Given the description of an element on the screen output the (x, y) to click on. 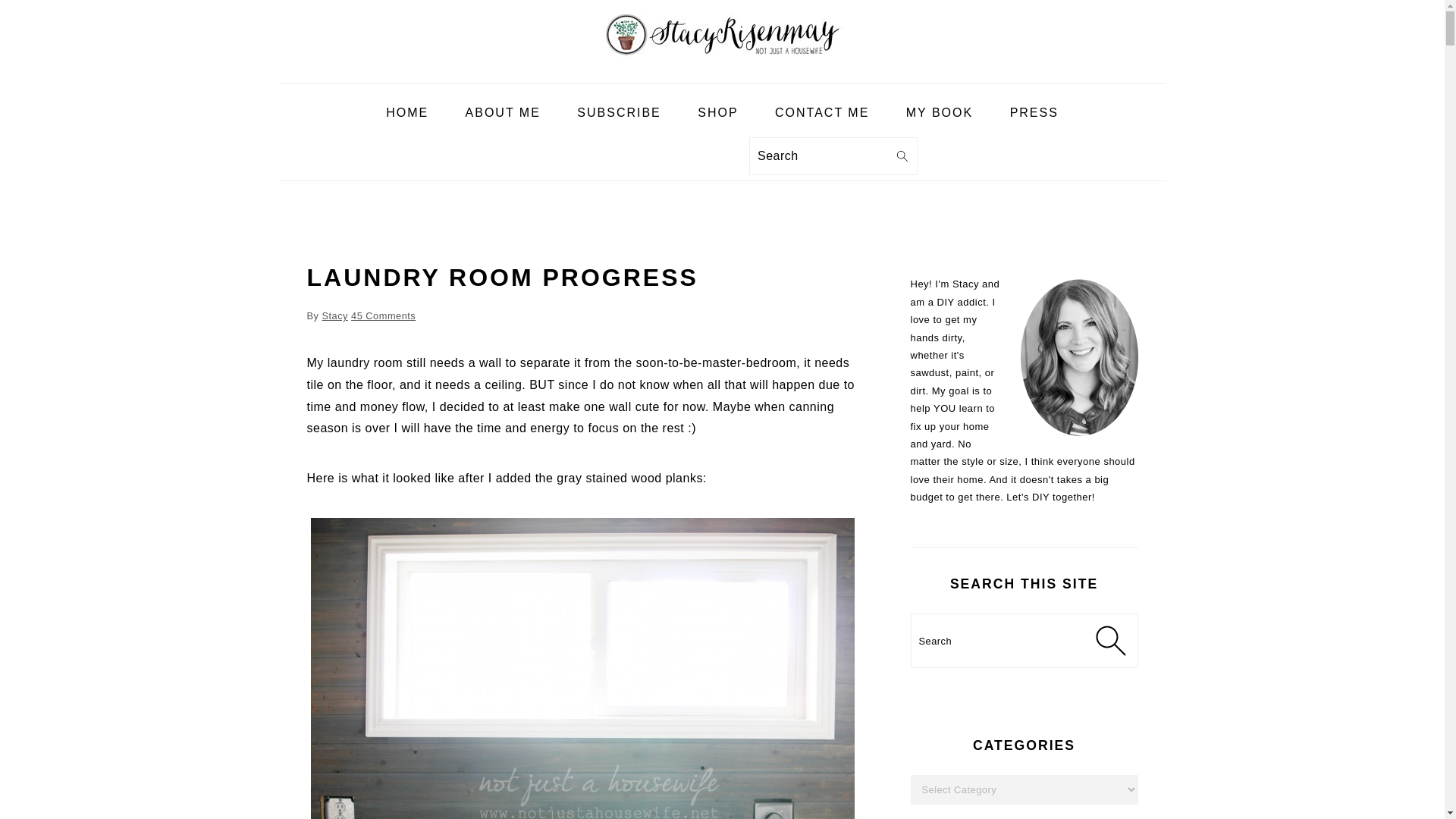
Pinterest (649, 164)
SUBSCRIBE (618, 113)
Stacy (334, 315)
Stacy Risenmay (721, 38)
Instagram (605, 164)
HOME (406, 113)
45 Comments (382, 315)
Instagram (605, 164)
MY BOOK (938, 113)
